Given the description of an element on the screen output the (x, y) to click on. 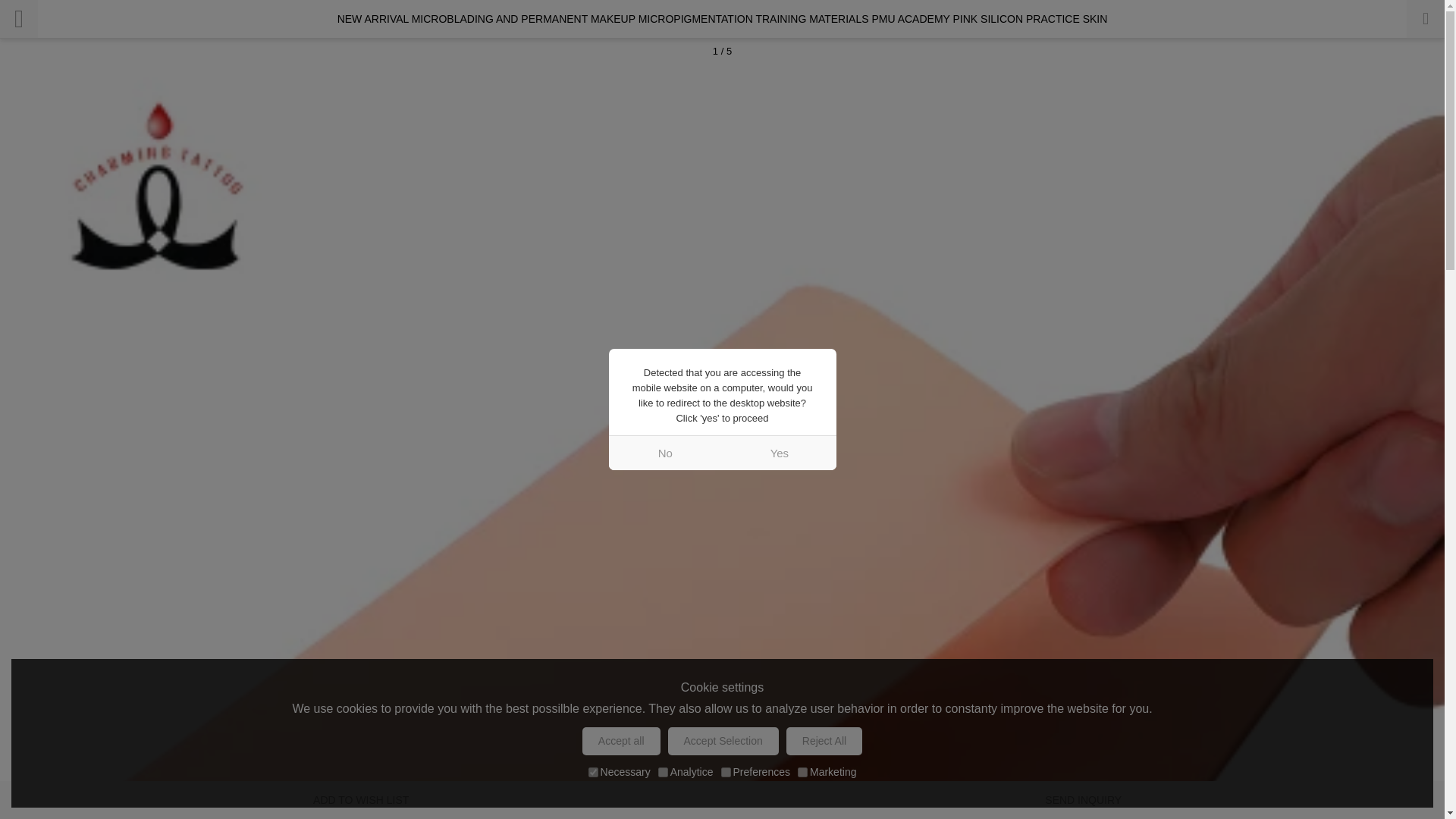
on (663, 772)
No (665, 452)
ADD TO WISH LIST (361, 800)
Return (18, 18)
Accept Selection (723, 741)
on (802, 772)
Reject All (823, 741)
Add to wish list (361, 800)
Yes (778, 452)
Accept all (621, 741)
on (593, 772)
on (725, 772)
